Given the description of an element on the screen output the (x, y) to click on. 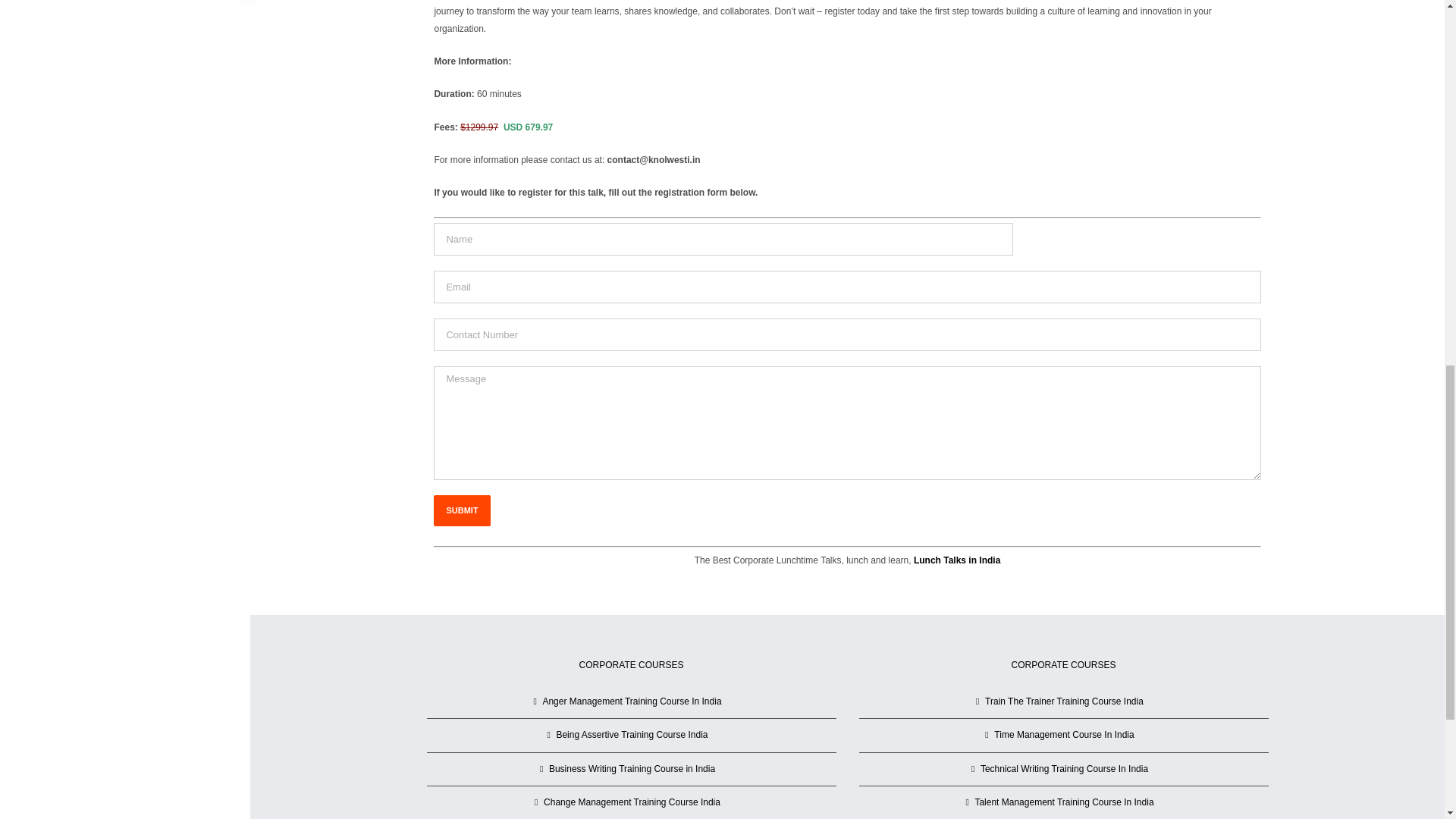
Technical Writing Training Course In India (1063, 769)
submit (461, 510)
Being Assertive Training Course India (631, 734)
Change Management Training Course India (631, 802)
Lunch Talks in India (957, 560)
Business Writing Training Course in India (631, 769)
Train The Trainer Training Course India (1063, 701)
Talent Management Training Course In India (1063, 802)
submit (461, 510)
Anger Management Training Course In India (631, 701)
Time Management Course In India (1063, 734)
